Given the description of an element on the screen output the (x, y) to click on. 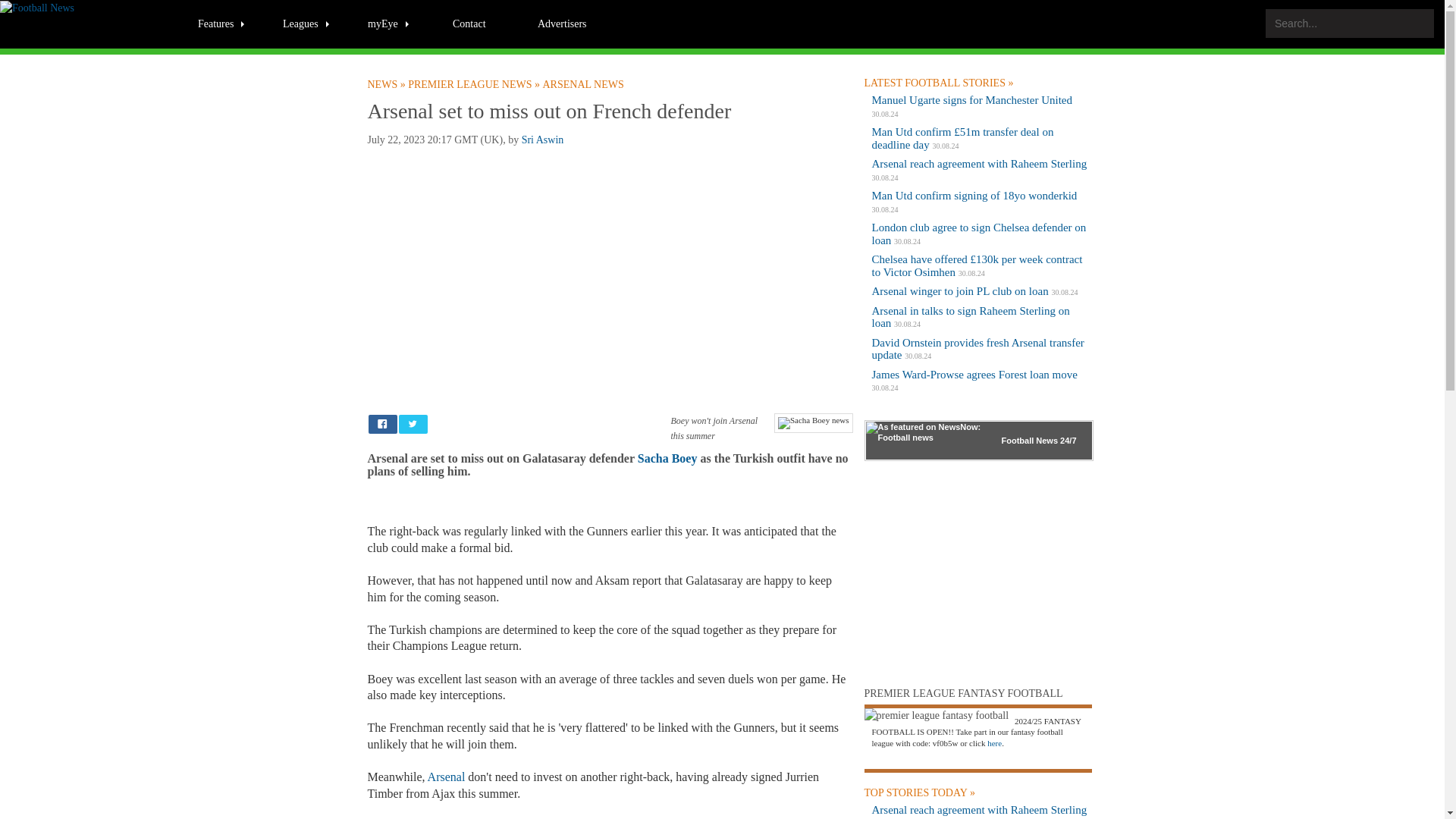
Top (1407, 805)
Premier League news (474, 84)
Search (1414, 22)
Football News (386, 84)
ARSENAL NEWS (583, 84)
Arsenal news (583, 84)
Features (221, 23)
myEye (389, 23)
Sri Aswin (542, 139)
Search... (1349, 23)
